Given the description of an element on the screen output the (x, y) to click on. 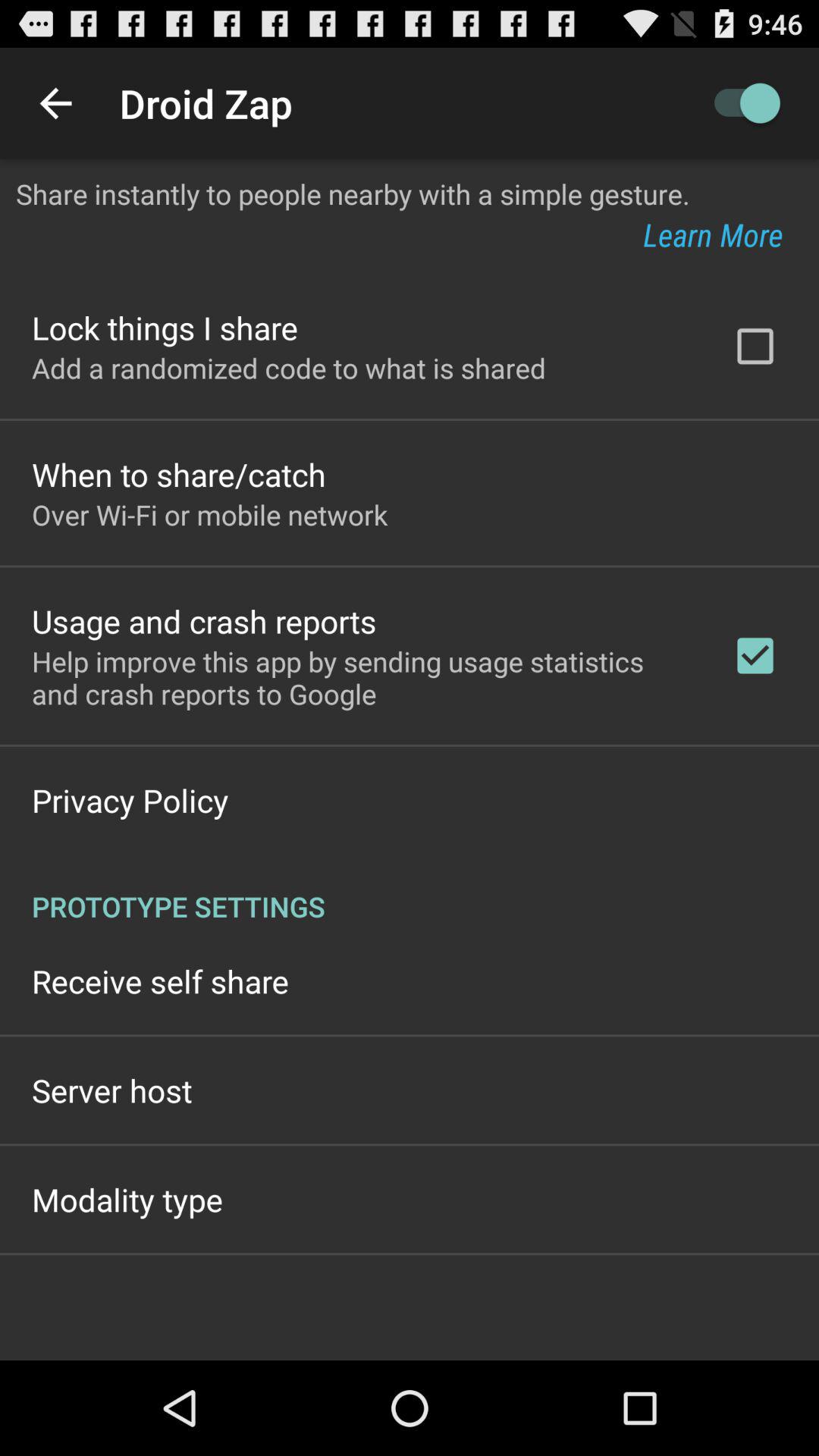
click the icon next to the droid zap (55, 103)
